Given the description of an element on the screen output the (x, y) to click on. 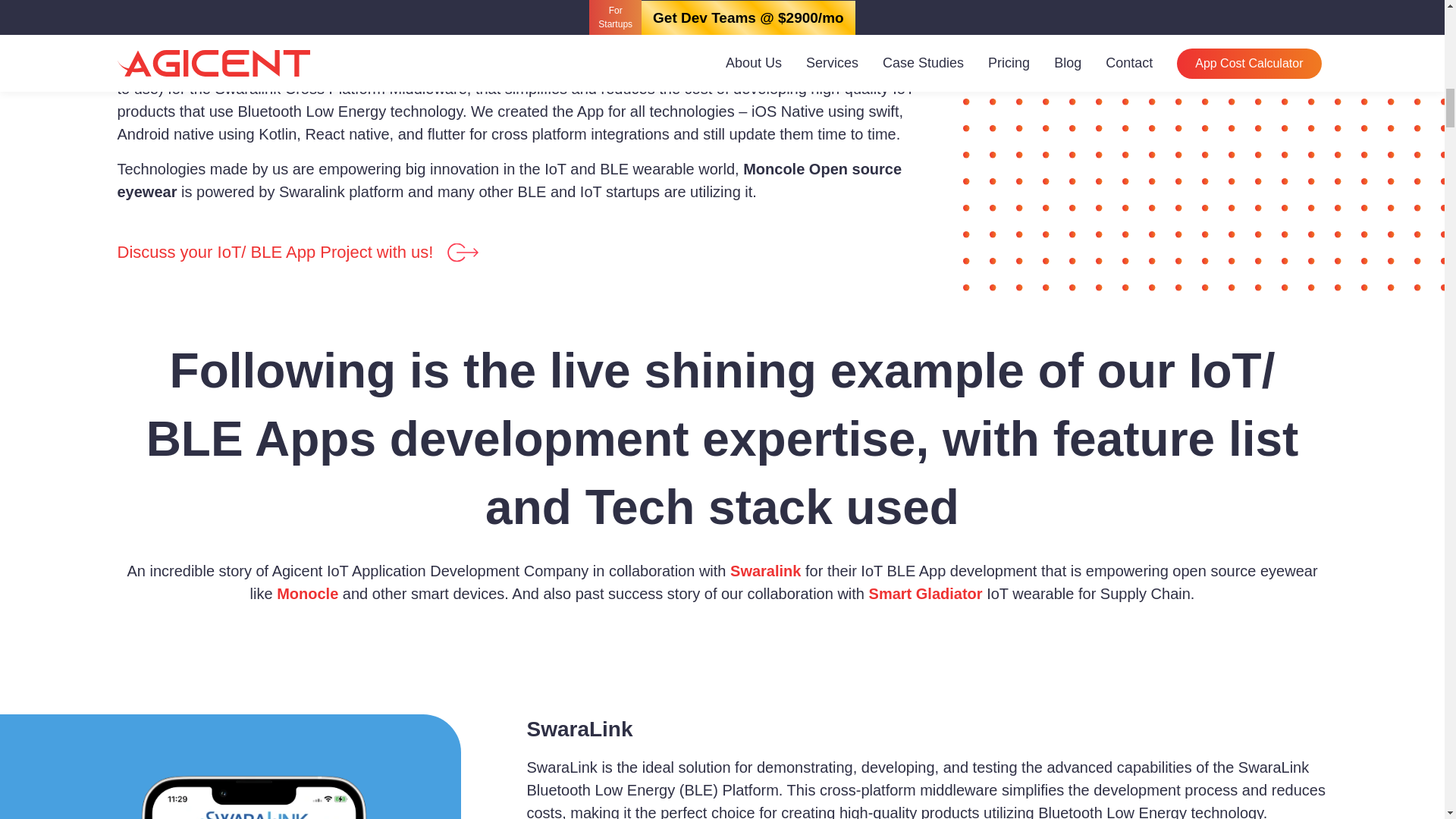
Swaralink Technologies (461, 65)
